Given the description of an element on the screen output the (x, y) to click on. 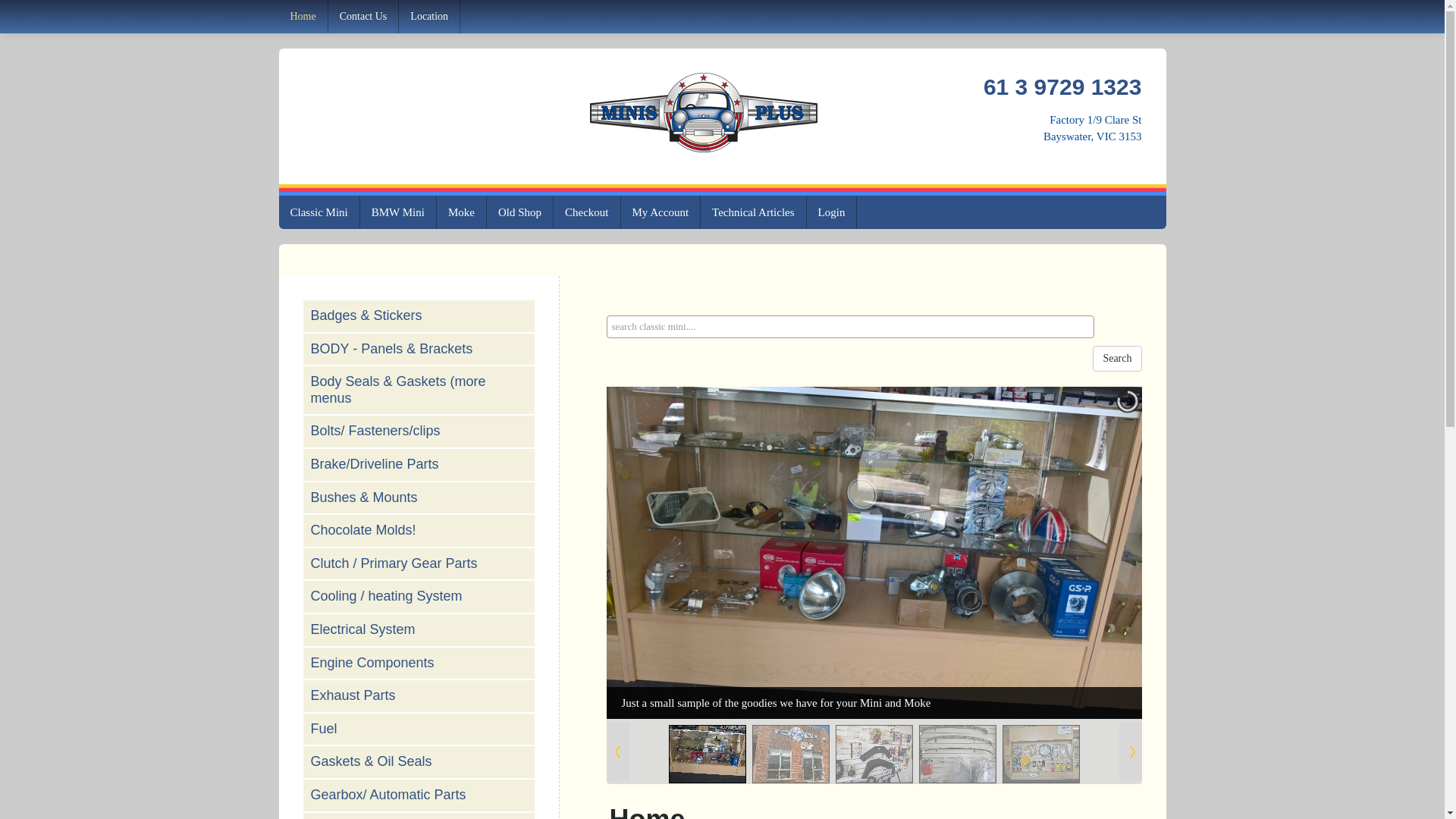
BMW Mini Element type: text (398, 212)
Technical Articles Element type: text (753, 212)
Login Element type: text (831, 212)
My Account Element type: text (661, 212)
Moke Element type: text (461, 212)
Home Element type: text (303, 16)
Classic Mini Element type: text (319, 212)
Bushes & Mounts Element type: text (363, 497)
Fuel Element type: text (418, 729)
Checkout Element type: text (587, 212)
Search Element type: text (1116, 358)
Return to home page of Minis Plus website Element type: hover (703, 111)
Bolts/ Fasteners/clips Element type: text (375, 430)
Gearbox/ Automatic Parts Element type: text (418, 795)
Cooling / heating System Element type: text (386, 595)
Gaskets & Oil Seals Element type: text (371, 760)
Location Element type: text (429, 16)
Electrical System Element type: text (362, 629)
Engine Components Element type: text (418, 663)
Exhaust Parts Element type: text (352, 694)
Clutch / Primary Gear Parts Element type: text (393, 563)
Old Shop Element type: text (519, 212)
BODY - Panels & Brackets Element type: text (418, 349)
Brake/Driveline Parts Element type: text (418, 464)
Chocolate Molds! Element type: text (363, 529)
Badges & Stickers Element type: text (366, 315)
Body Seals & Gaskets (more menus Element type: text (418, 389)
61 3 9729 1323 Element type: text (1062, 86)
Contact Us Element type: text (363, 16)
